Given the description of an element on the screen output the (x, y) to click on. 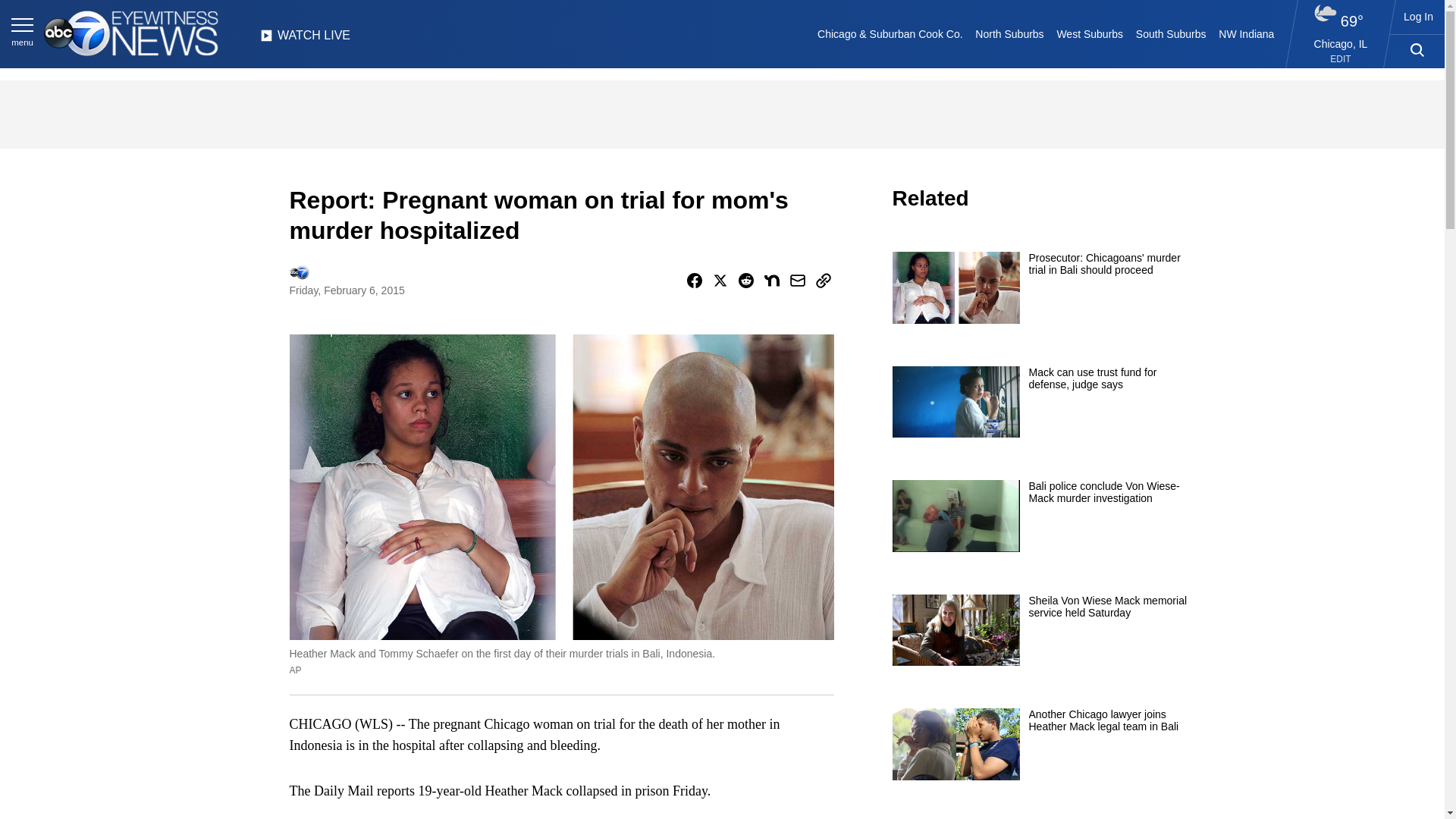
EDIT (1340, 59)
North Suburbs (1009, 33)
South Suburbs (1170, 33)
NW Indiana (1246, 33)
West Suburbs (1089, 33)
WATCH LIVE (305, 39)
Chicago, IL (1340, 43)
